Given the description of an element on the screen output the (x, y) to click on. 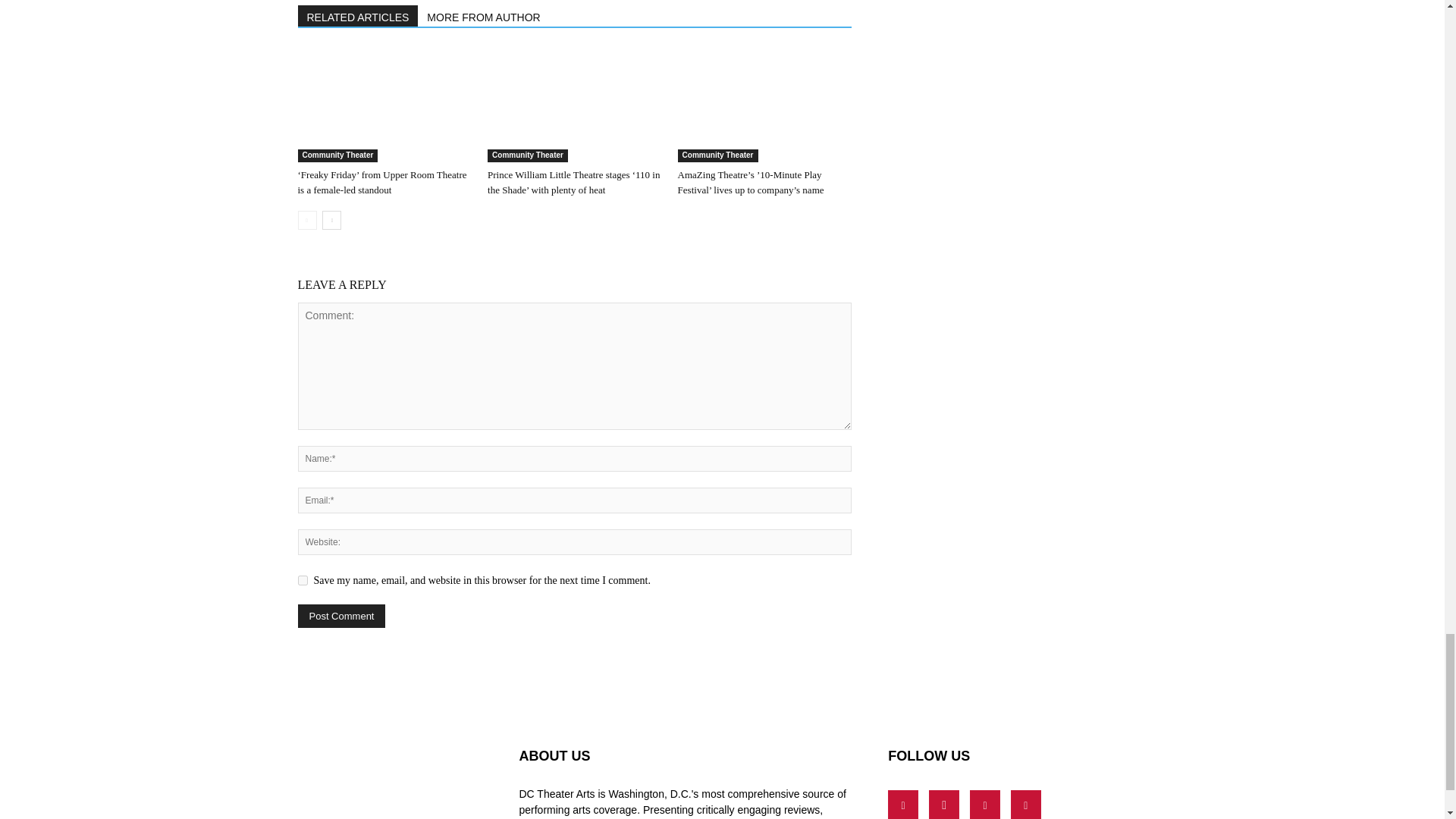
Post Comment (341, 616)
yes (302, 580)
